Given the description of an element on the screen output the (x, y) to click on. 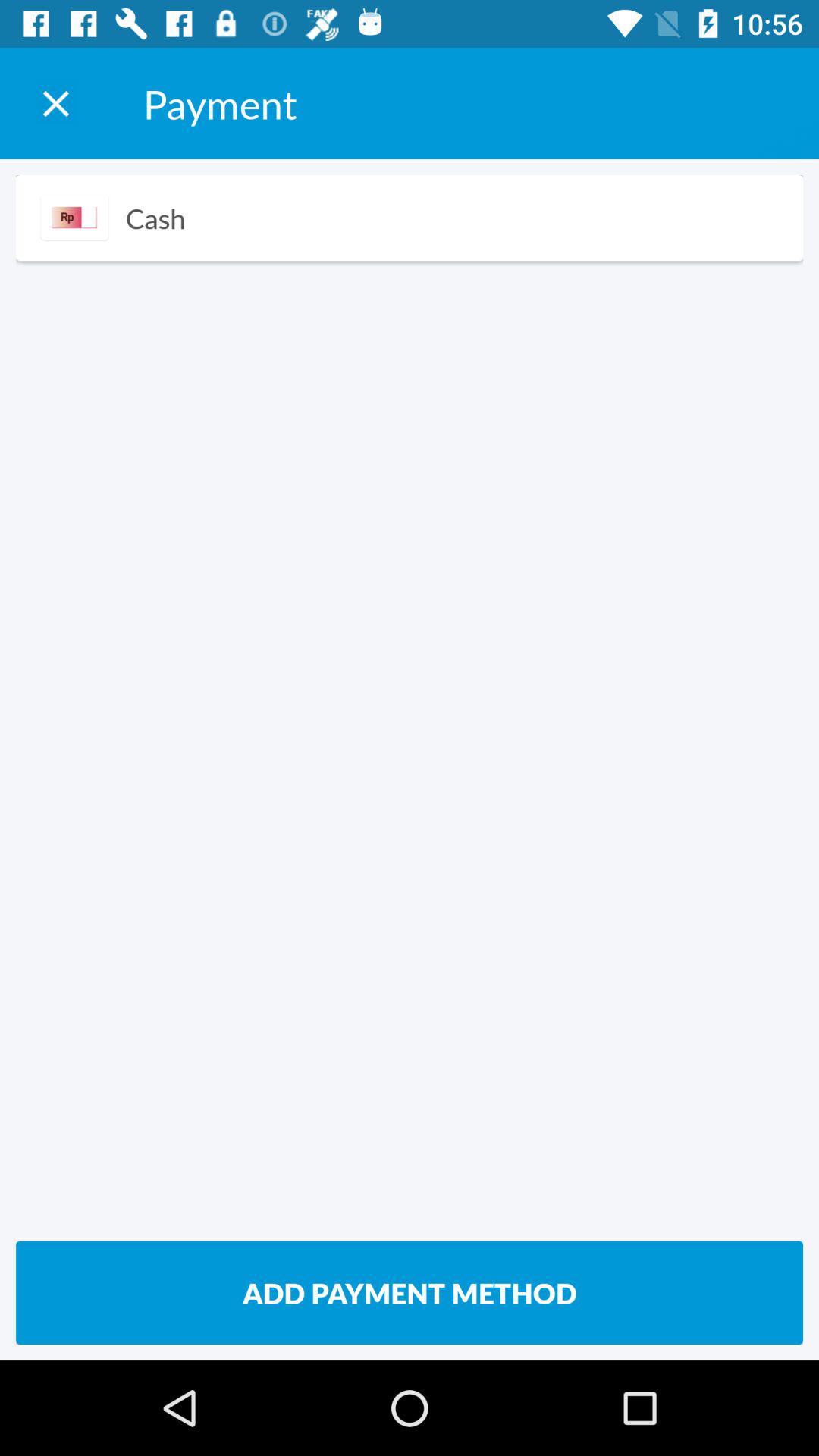
open item above add payment method item (74, 217)
